Given the description of an element on the screen output the (x, y) to click on. 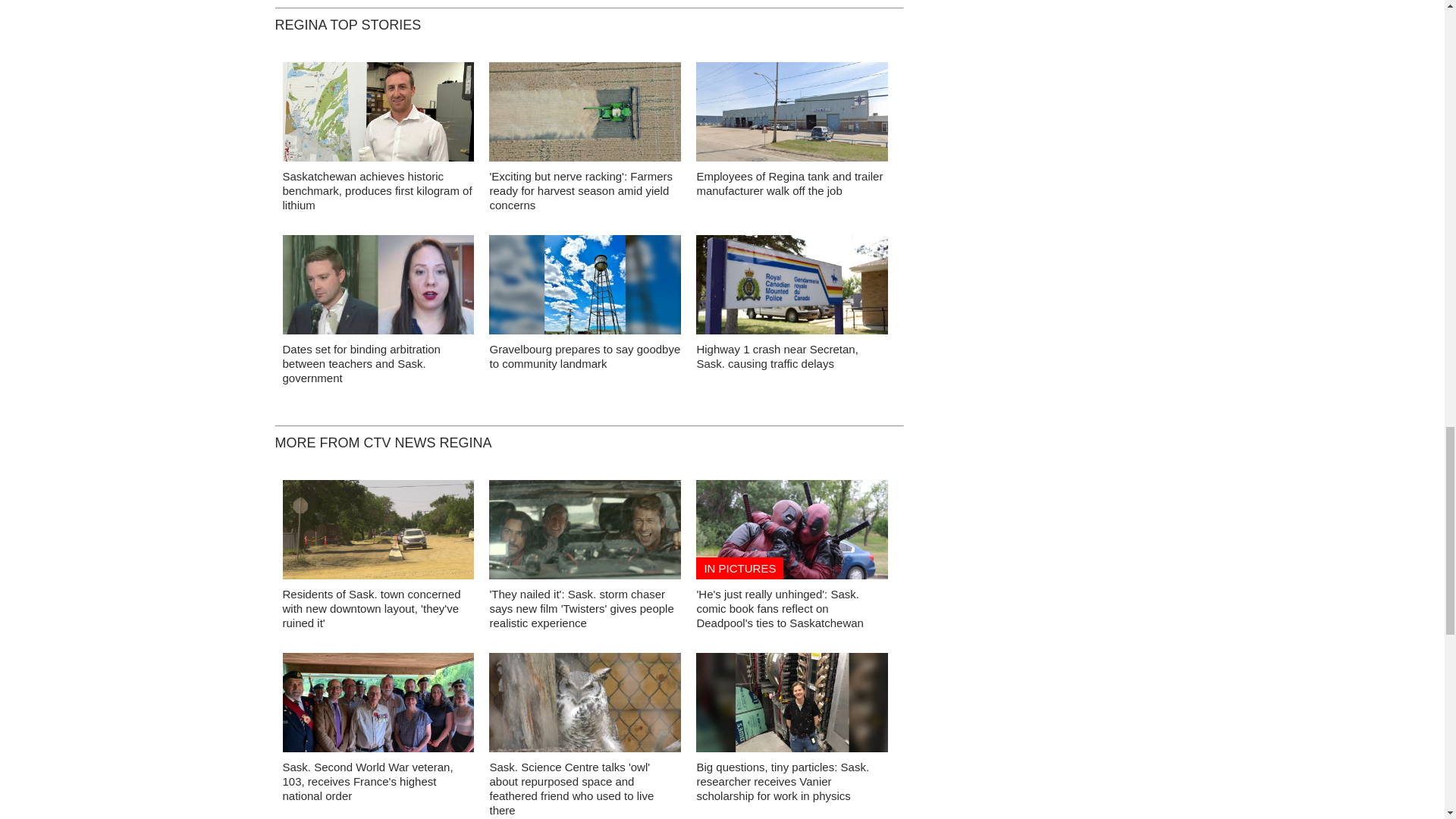
Advance Tank Centres Ltd (791, 115)
Sask teachers strike (378, 289)
RCMP (791, 289)
Gravelbourg prepares to say goodbye to community landmark (584, 356)
Prairie Lithium (378, 115)
Town of Gravelbourg (585, 289)
